Given the description of an element on the screen output the (x, y) to click on. 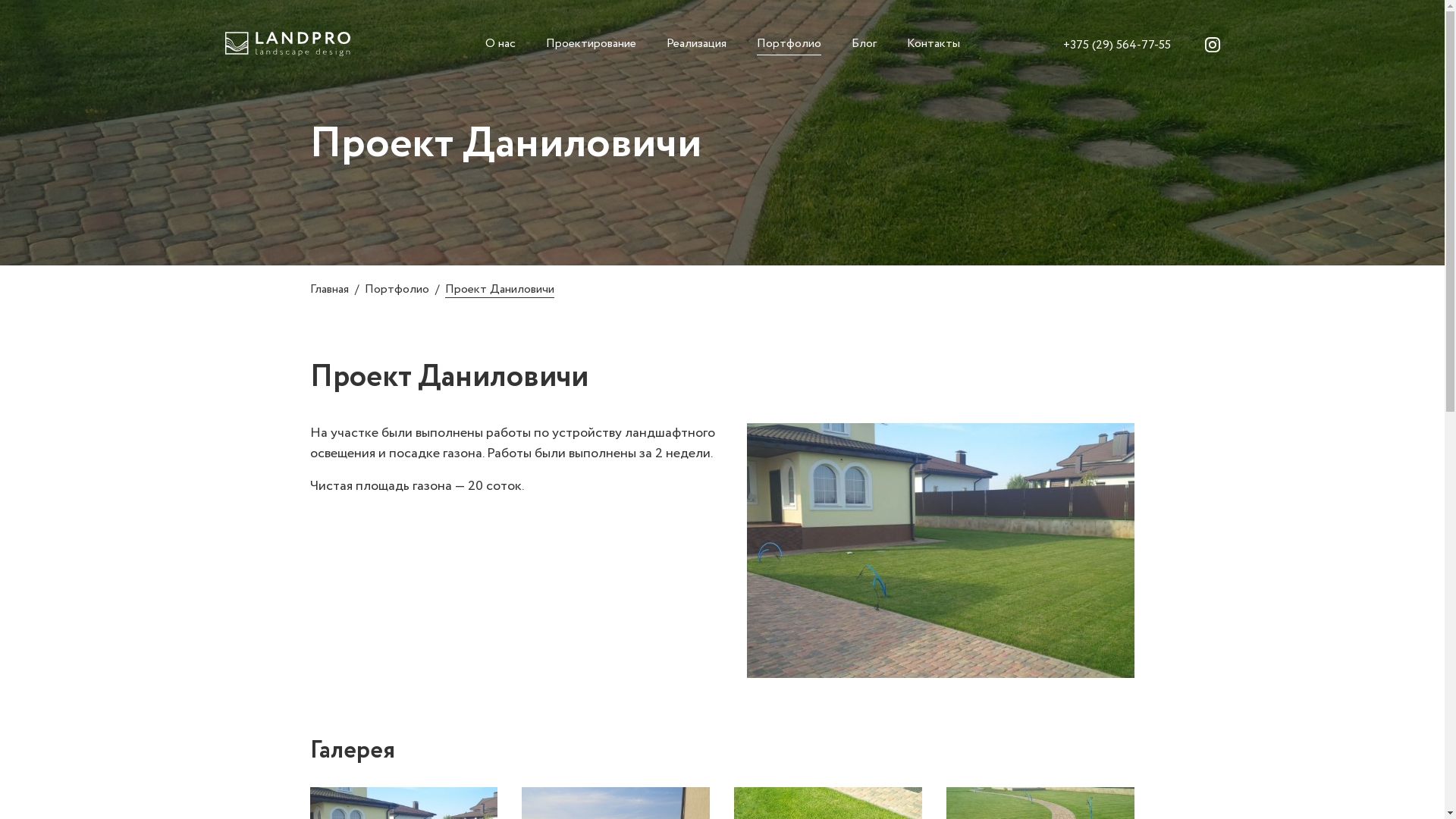
+375 (29) 564-77-55 Element type: text (1116, 44)
